Given the description of an element on the screen output the (x, y) to click on. 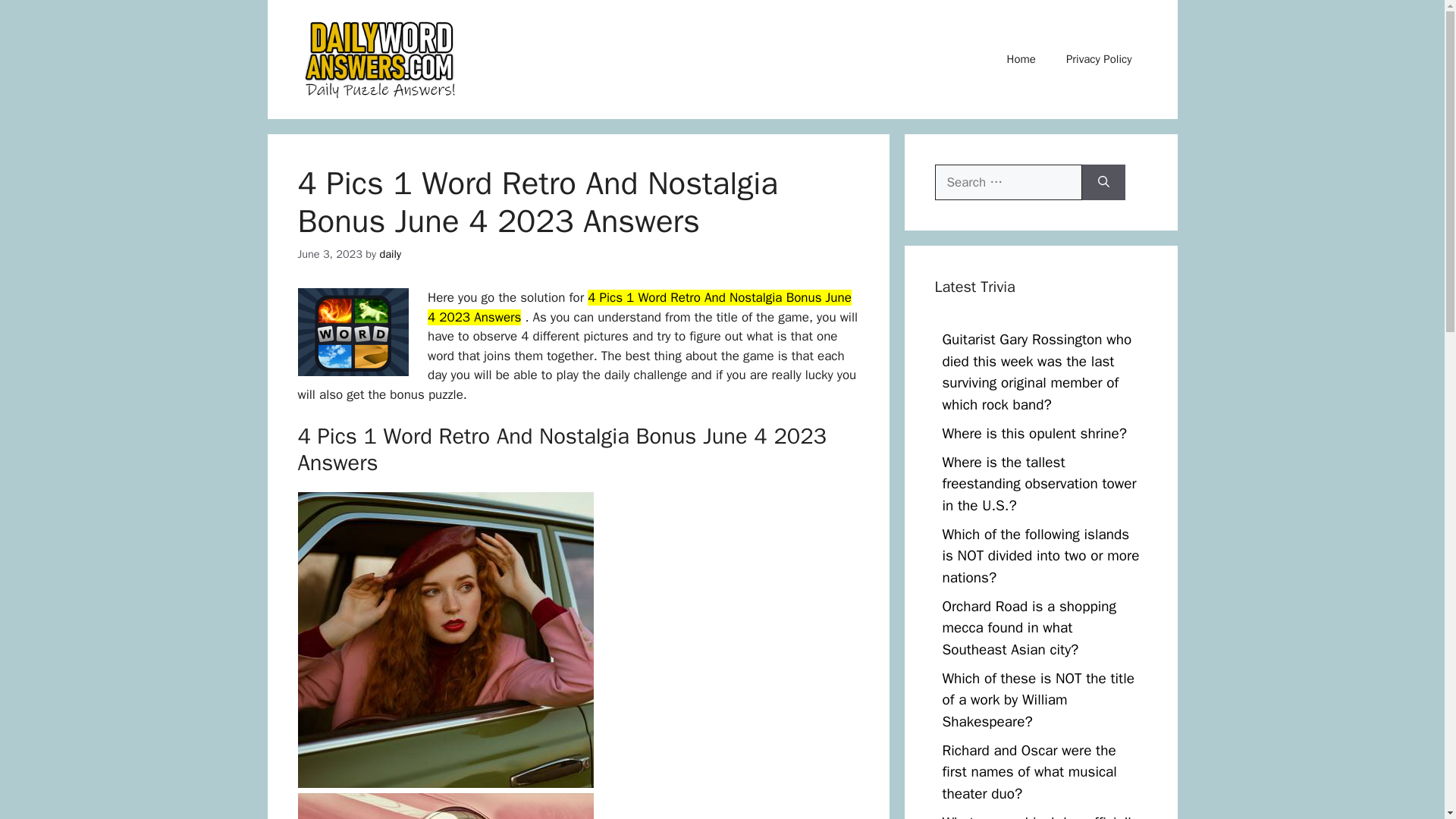
Home (1021, 58)
View all posts by daily (389, 254)
daily (389, 254)
Search for: (1007, 182)
Where is this opulent shrine? (1034, 434)
DailyWordAnswers.com (380, 58)
DailyWordAnswers.com (380, 59)
Privacy Policy (1099, 58)
